Given the description of an element on the screen output the (x, y) to click on. 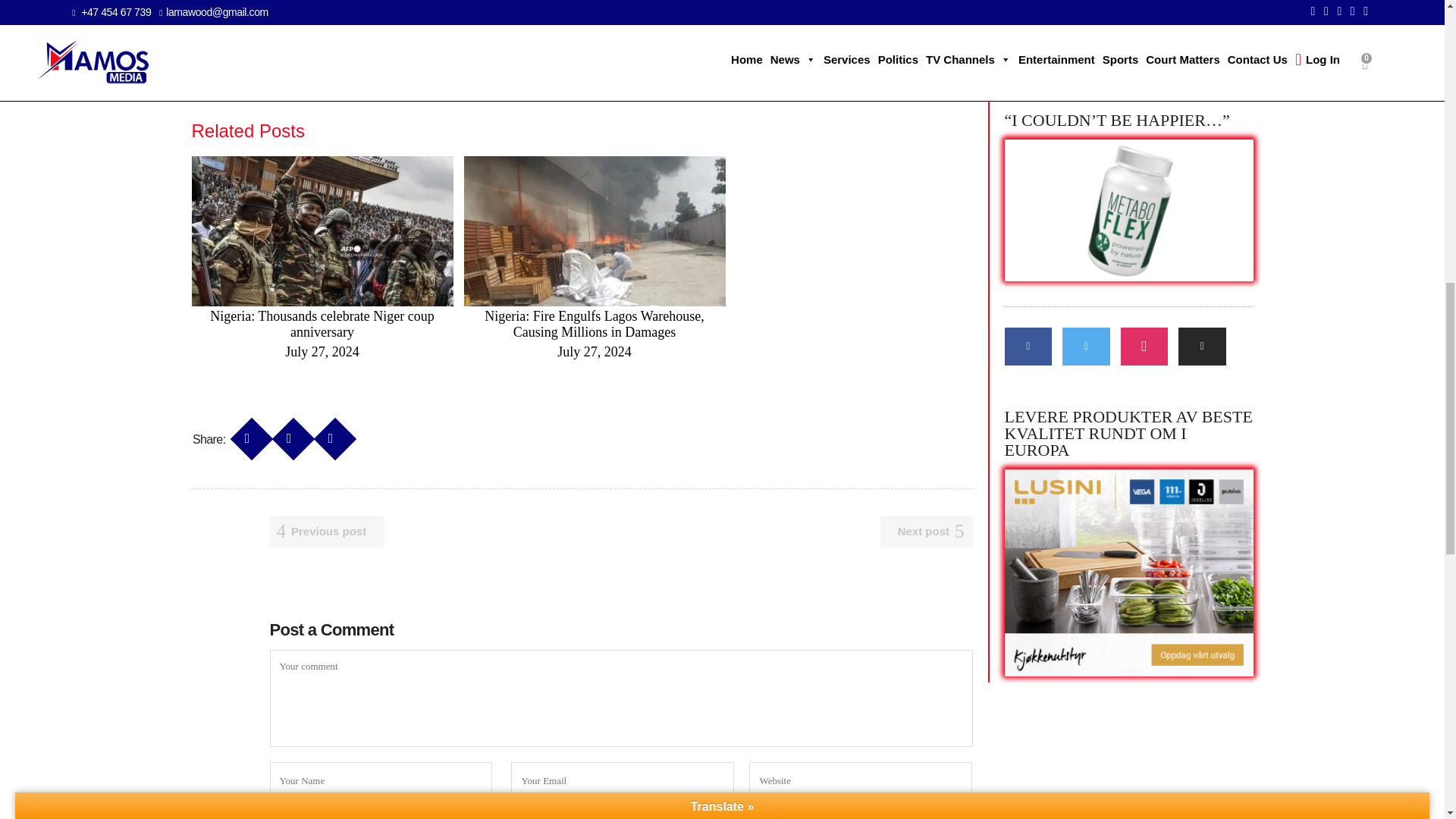
Share on Twitter (288, 431)
Share on Facebook (246, 431)
